Given the description of an element on the screen output the (x, y) to click on. 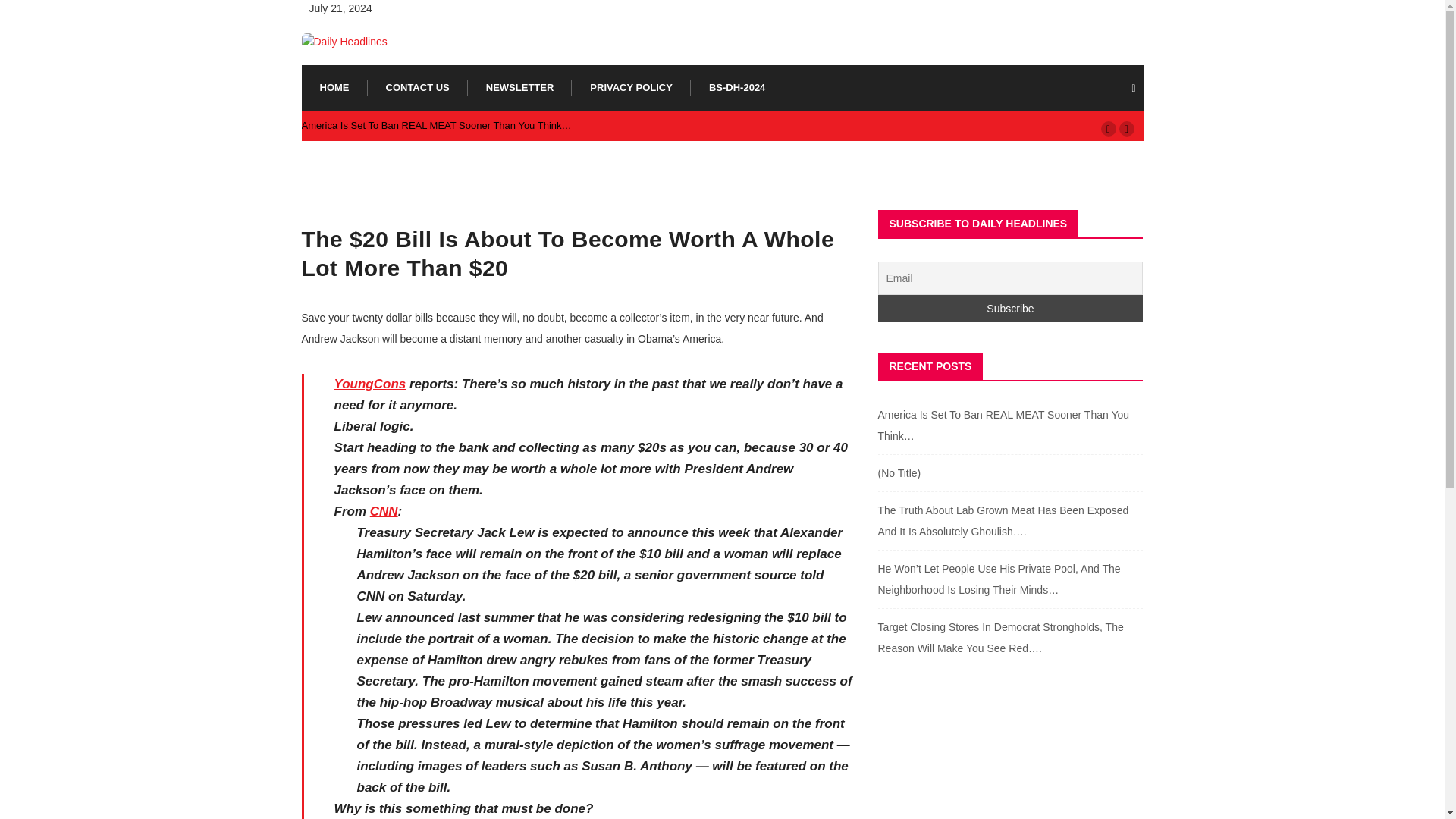
CNN (383, 511)
CONTACT US (416, 87)
BS-DH-2024 (737, 87)
PRIVACY POLICY (630, 87)
Subscribe (1009, 308)
YoungCons (369, 383)
Subscribe (1009, 308)
NEWSLETTER (520, 87)
